Given the description of an element on the screen output the (x, y) to click on. 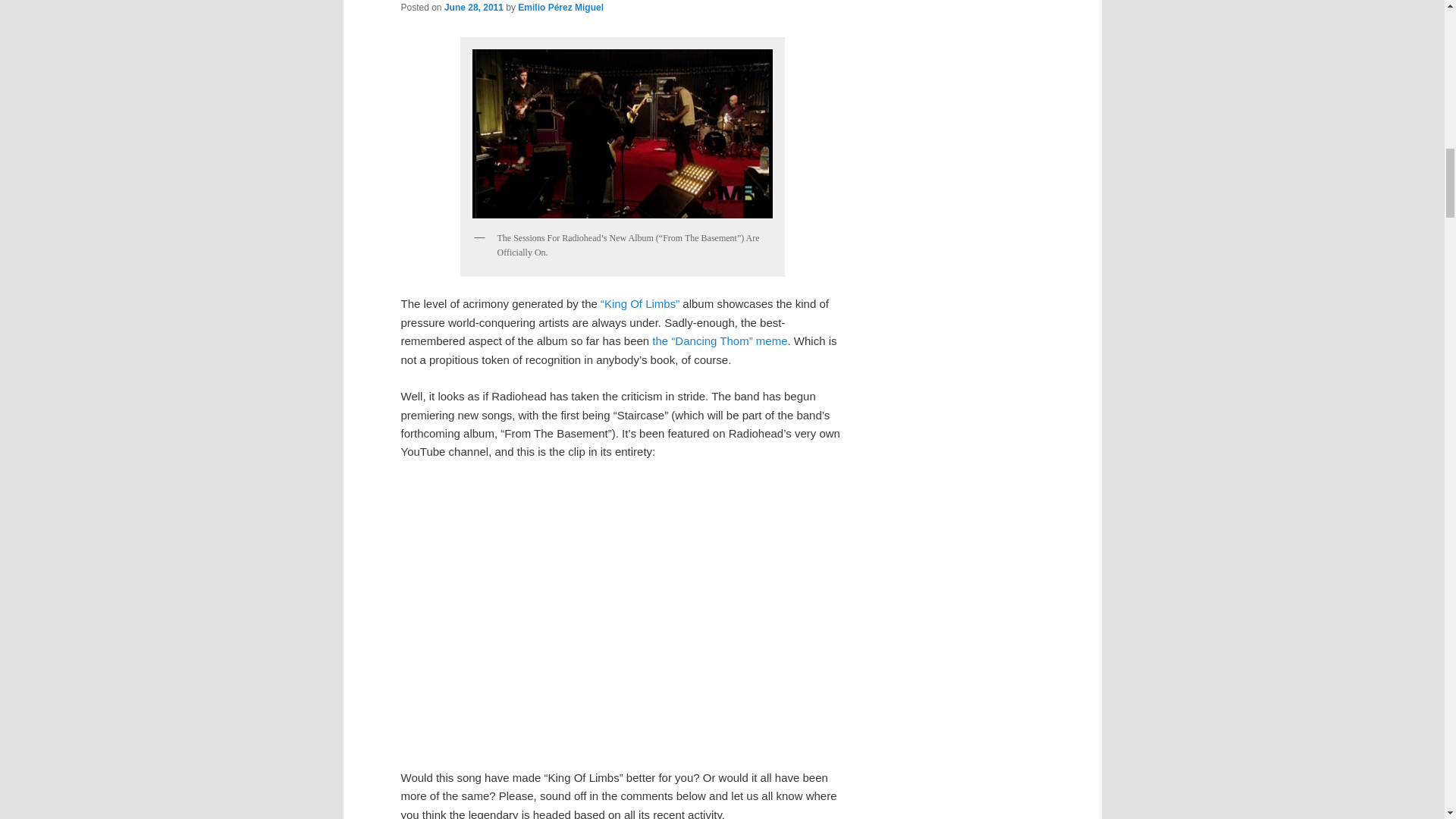
Radiohead from the basement (622, 133)
June 28, 2011 (473, 7)
4:17 am (473, 7)
